Given the description of an element on the screen output the (x, y) to click on. 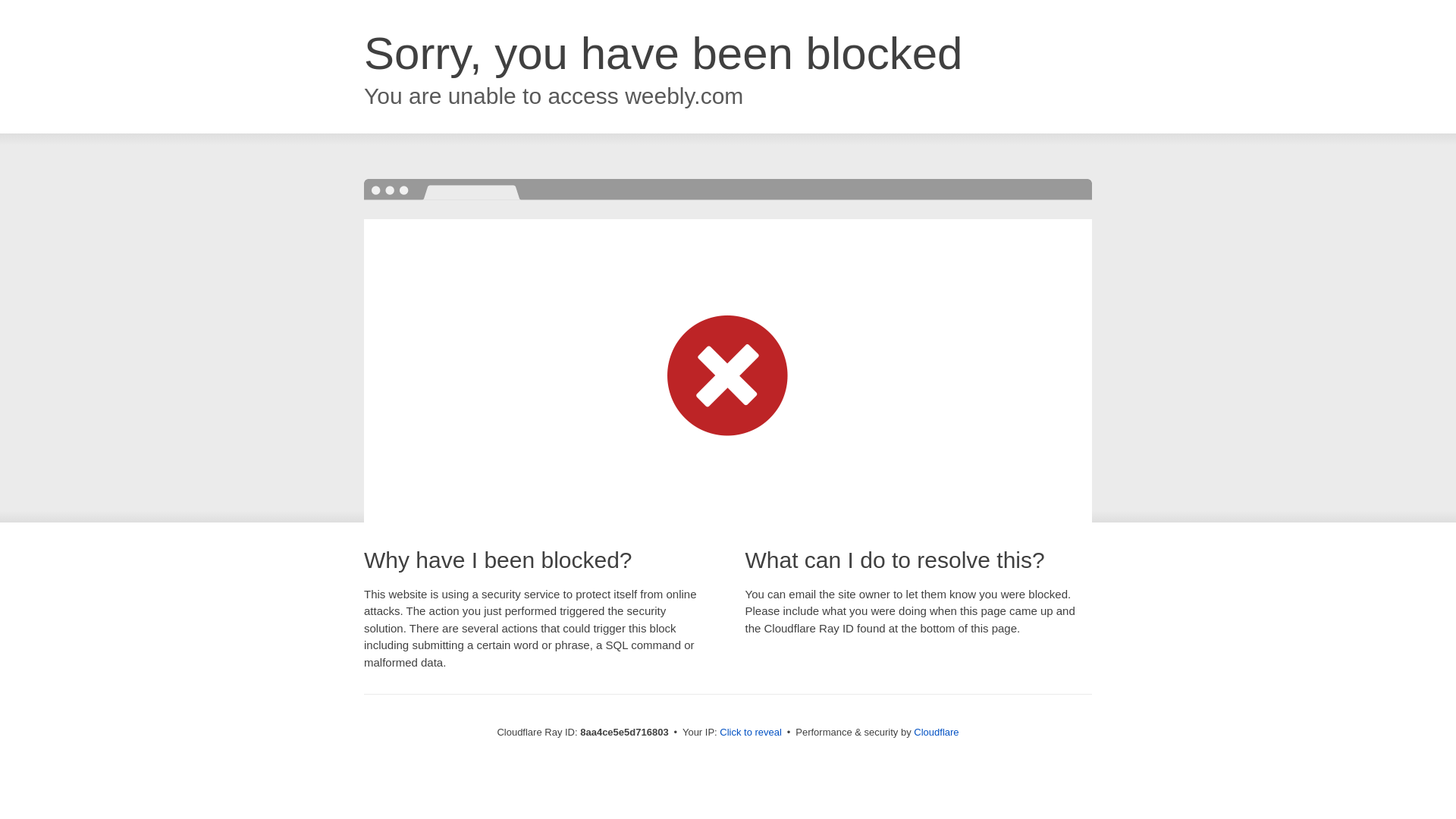
Cloudflare (936, 731)
Click to reveal (750, 732)
